Given the description of an element on the screen output the (x, y) to click on. 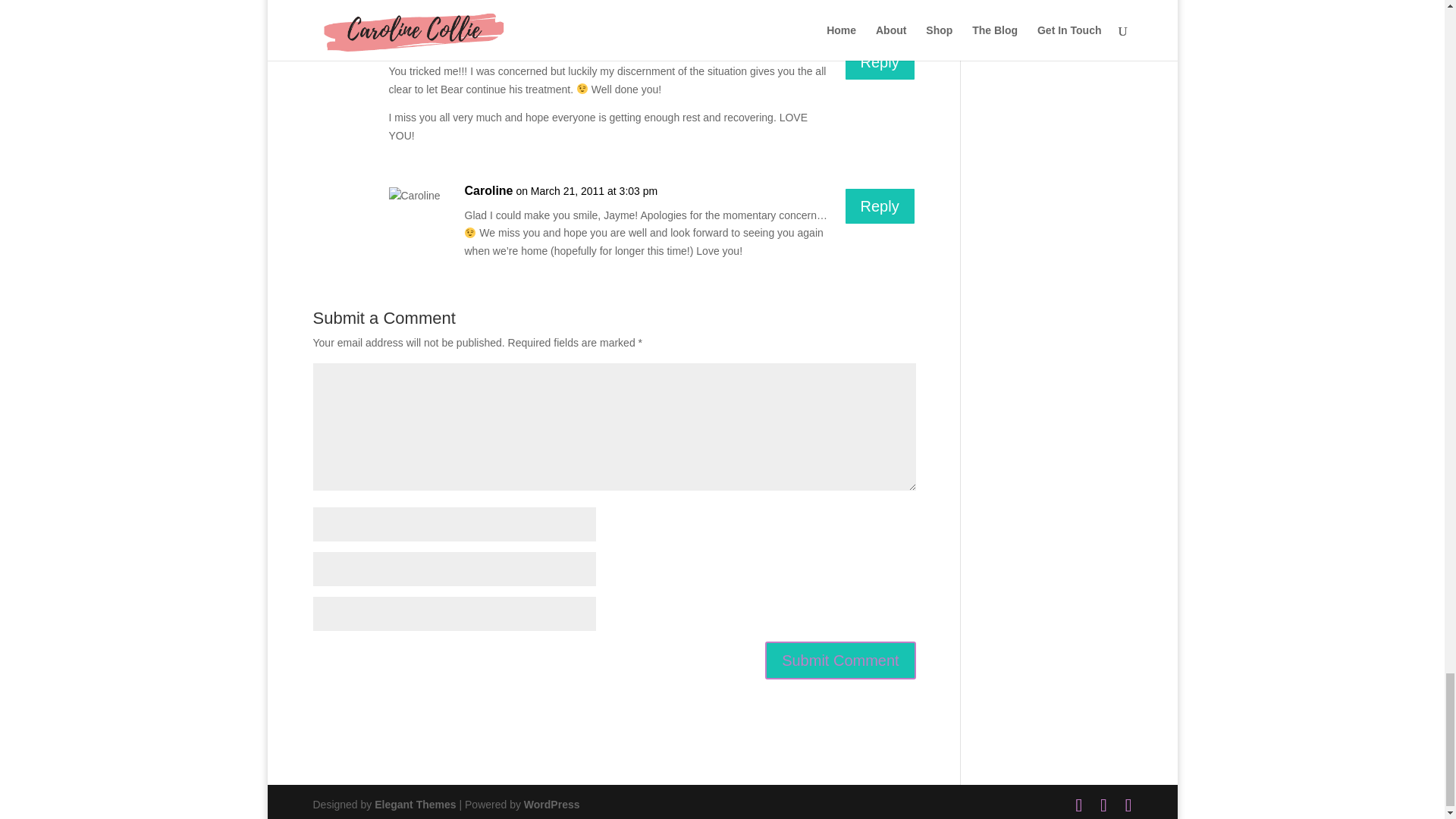
Elegant Themes (414, 804)
Premium WordPress Themes (414, 804)
Reply (879, 62)
WordPress (551, 804)
Caroline (488, 190)
Reply (879, 206)
Submit Comment (840, 660)
Submit Comment (840, 660)
